Given the description of an element on the screen output the (x, y) to click on. 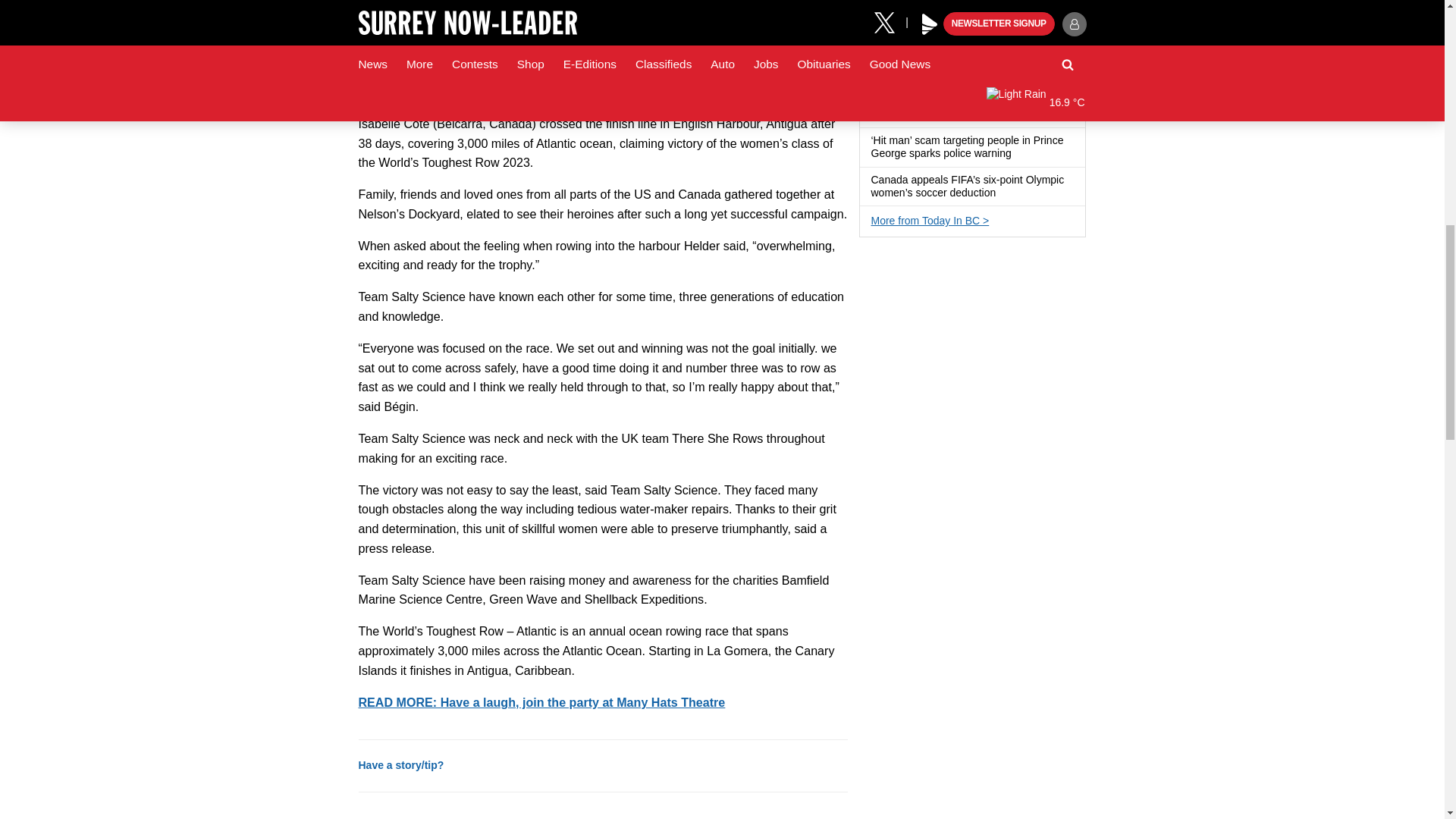
Has a gallery (984, 36)
